Given the description of an element on the screen output the (x, y) to click on. 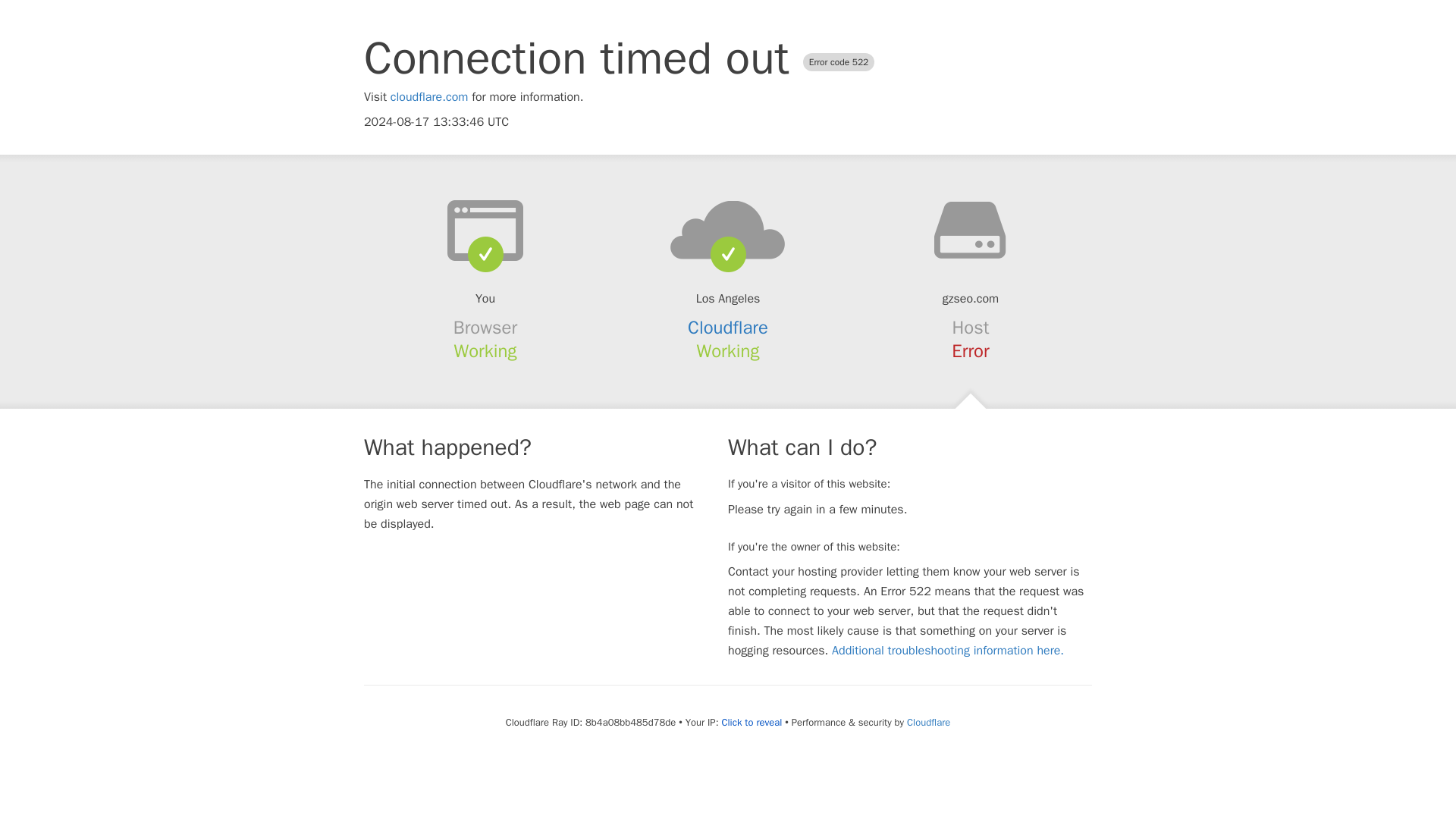
Additional troubleshooting information here. (947, 650)
Cloudflare (727, 327)
cloudflare.com (429, 96)
Click to reveal (750, 722)
Cloudflare (928, 721)
